Given the description of an element on the screen output the (x, y) to click on. 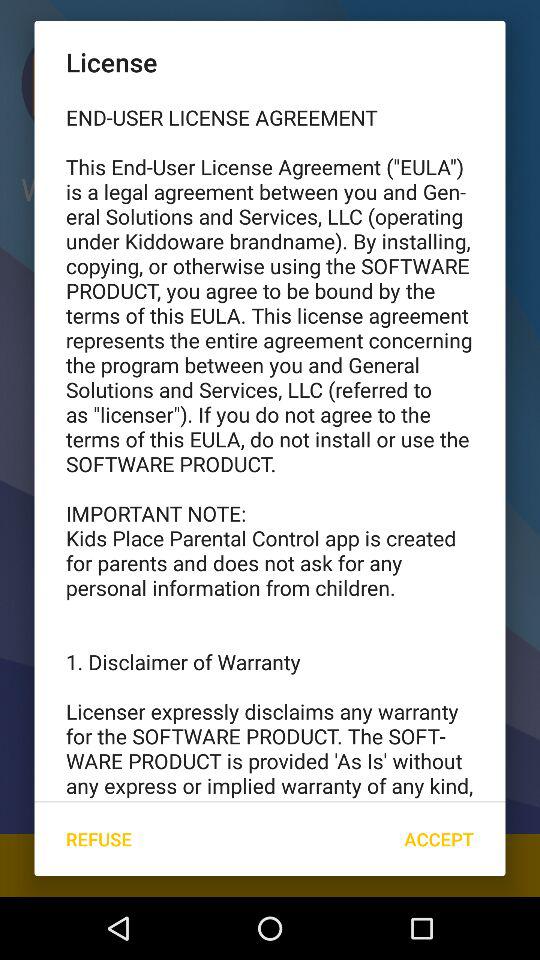
launch icon next to accept (98, 838)
